Given the description of an element on the screen output the (x, y) to click on. 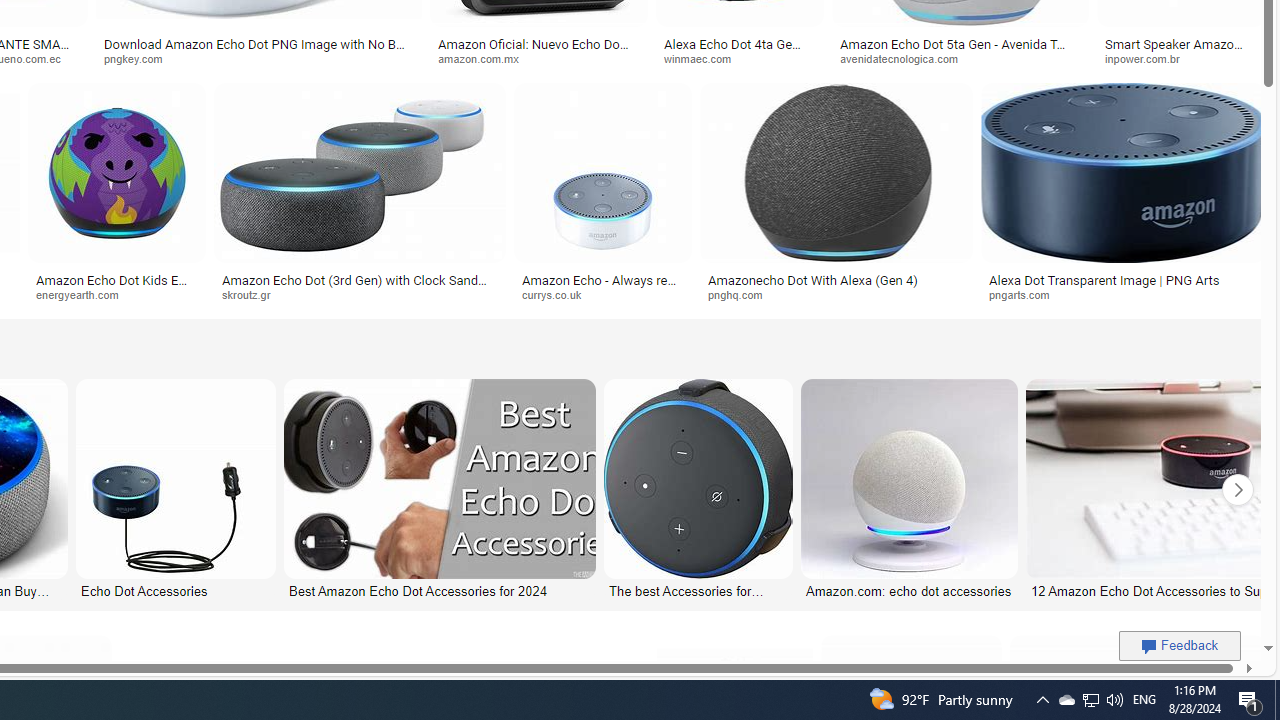
Amazonecho Dot With Alexa (Gen 4) (836, 279)
inpower.com.br (1149, 57)
winmaec.com (705, 57)
Amazon.com: echo dot accessories (909, 589)
pngkey.com (139, 57)
pngarts.com (1026, 294)
energyearth.com (84, 294)
pnghq.com (836, 295)
